Given the description of an element on the screen output the (x, y) to click on. 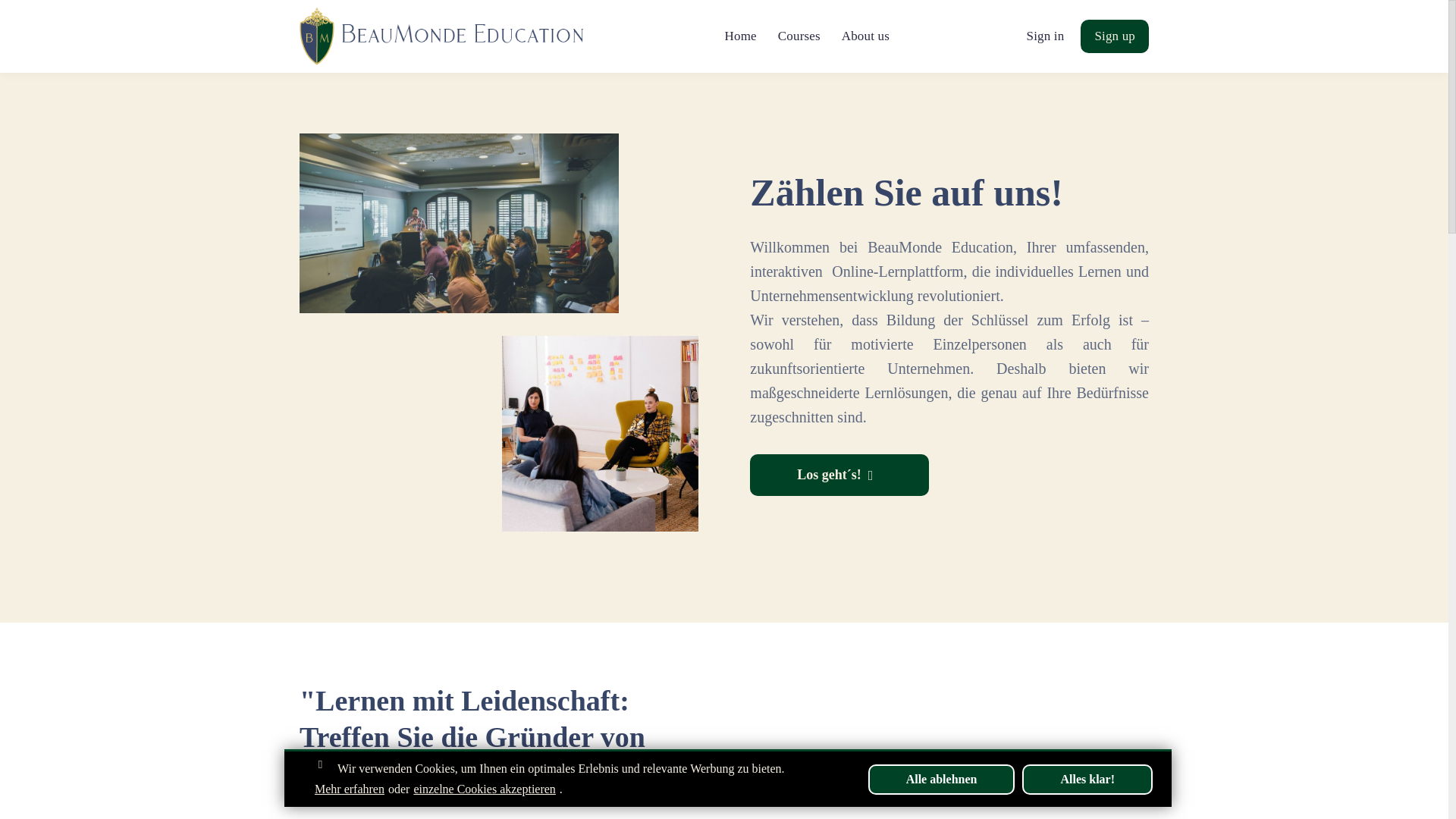
Alle ablehnen (940, 779)
Alles klar! (1087, 779)
Mehr erfahren (349, 789)
Courses (799, 35)
einzelne Cookies akzeptieren (483, 789)
Home (741, 35)
Sign up (1114, 36)
About us (865, 35)
Sign in (1045, 35)
